Given the description of an element on the screen output the (x, y) to click on. 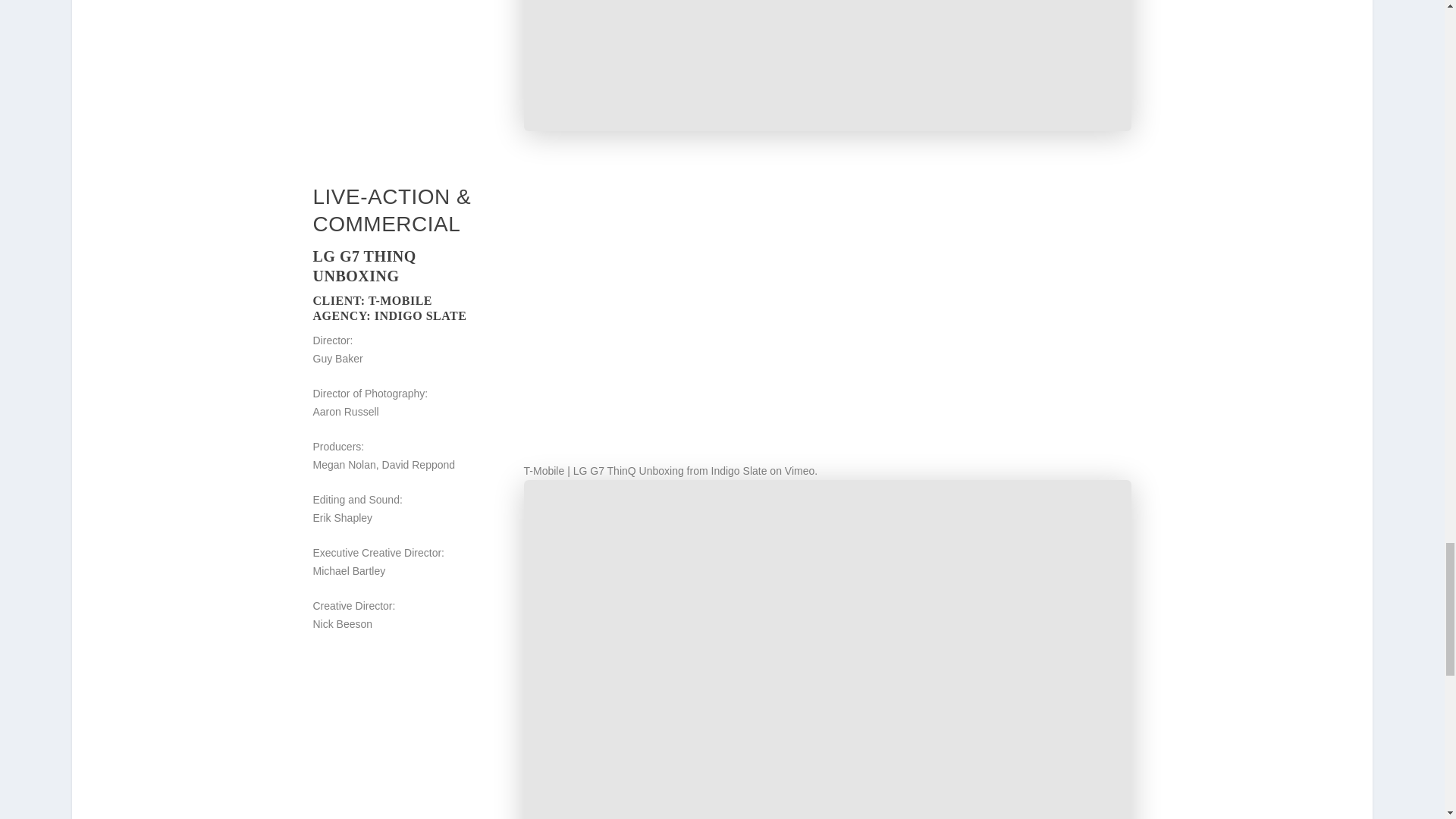
COMMERCIAL (386, 223)
Indigo Slate (739, 470)
Dragons: The Nine Realms - End Credits Illustrations (828, 65)
Vimeo (798, 470)
Live-Action Storyboards (391, 196)
Live-Action Storyboards (386, 223)
